Given the description of an element on the screen output the (x, y) to click on. 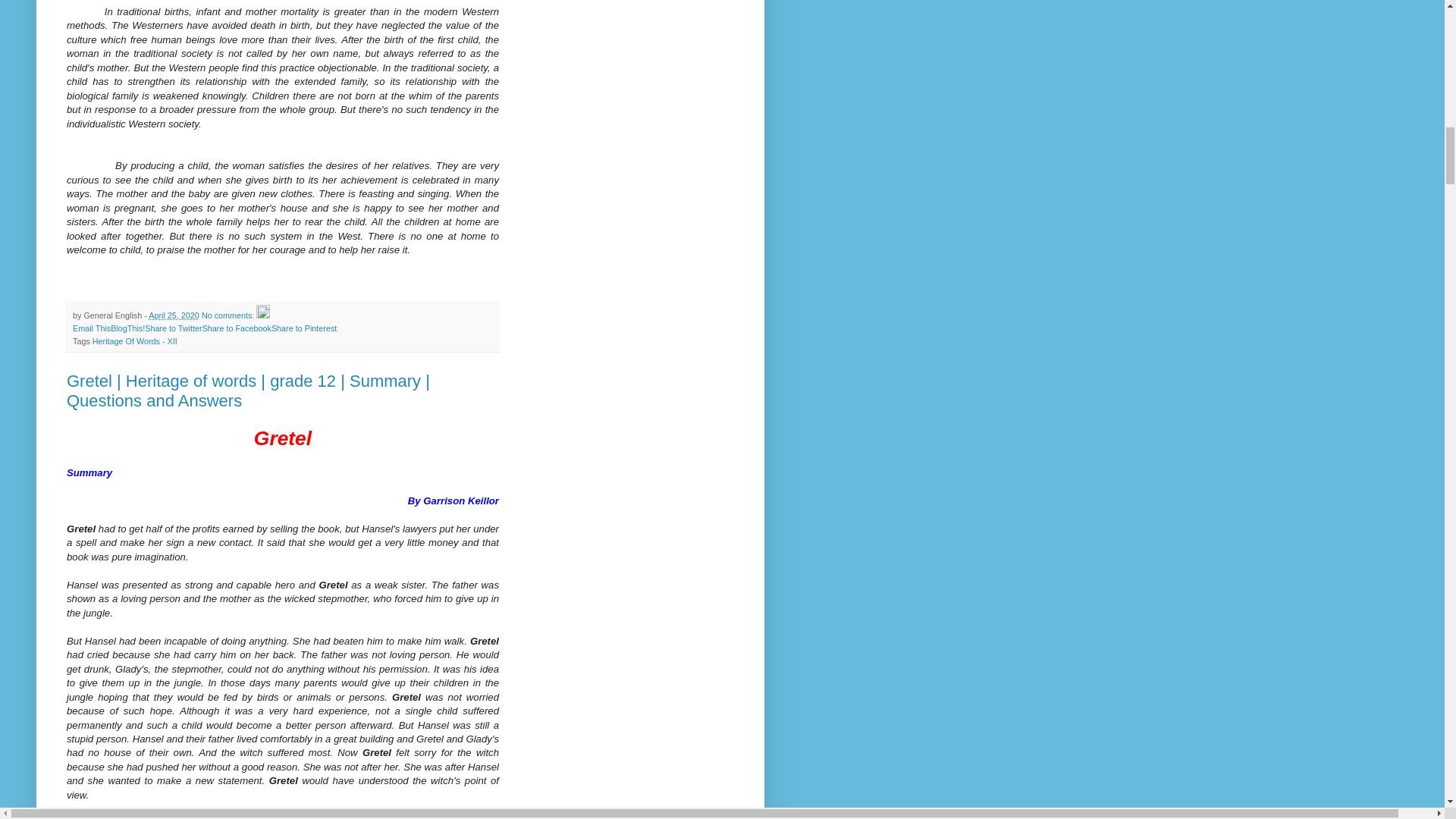
Share to Pinterest (303, 327)
Share to Twitter (173, 327)
Share to Facebook (236, 327)
BlogThis! (127, 327)
BlogThis! (127, 327)
permanent link (173, 315)
Heritage Of Words - XII (135, 340)
Email This (91, 327)
Share to Twitter (173, 327)
No comments: (229, 315)
April 25, 2020 (173, 315)
Share to Facebook (236, 327)
Share to Pinterest (303, 327)
Email This (91, 327)
Edit Post (262, 315)
